Given the description of an element on the screen output the (x, y) to click on. 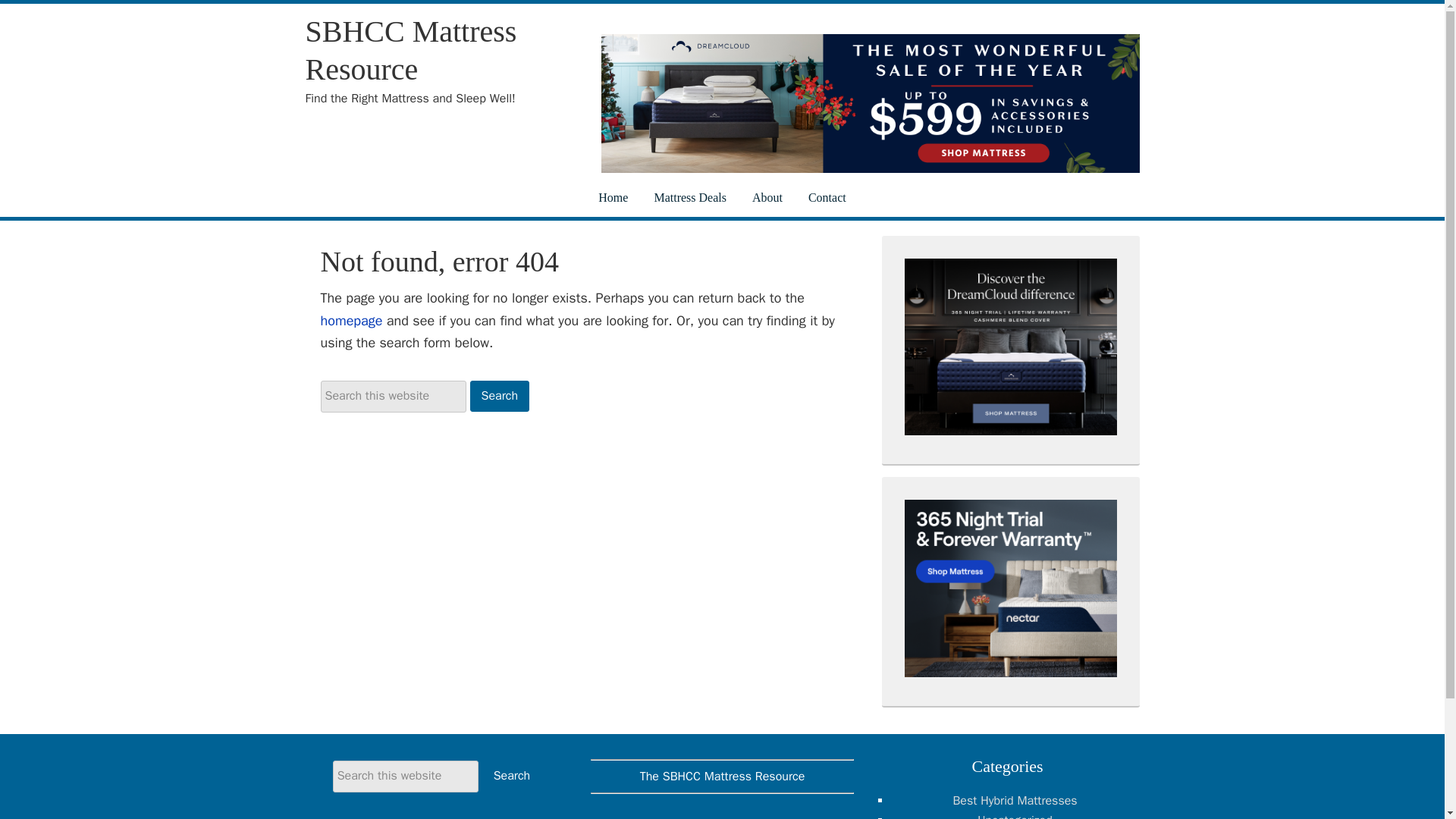
Best Hybrid Mattresses (1014, 800)
Search (499, 395)
Search (511, 775)
Home (612, 198)
Search (499, 395)
About (767, 198)
Uncategorized (1013, 816)
Contact (826, 198)
Search (511, 775)
Search (511, 775)
